Given the description of an element on the screen output the (x, y) to click on. 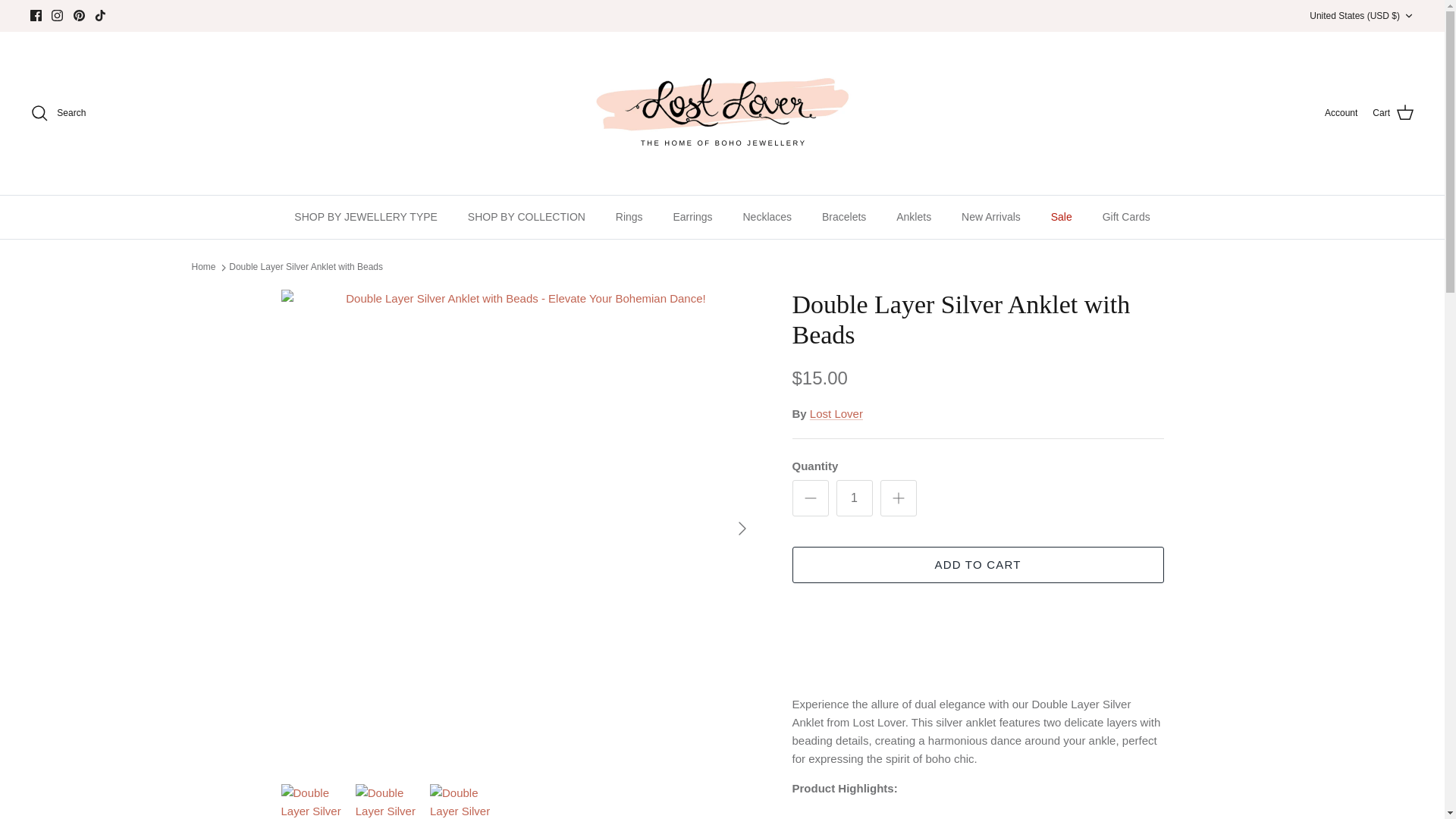
Down (1408, 15)
Facebook (36, 15)
Plus (897, 497)
Account (1340, 113)
Minus (809, 497)
1 (853, 497)
Search (57, 113)
RIGHT (741, 528)
Cart (1393, 112)
Pinterest (79, 15)
Lost Lover (722, 112)
Pinterest (79, 15)
Instagram (56, 15)
Facebook (36, 15)
Instagram (56, 15)
